Given the description of an element on the screen output the (x, y) to click on. 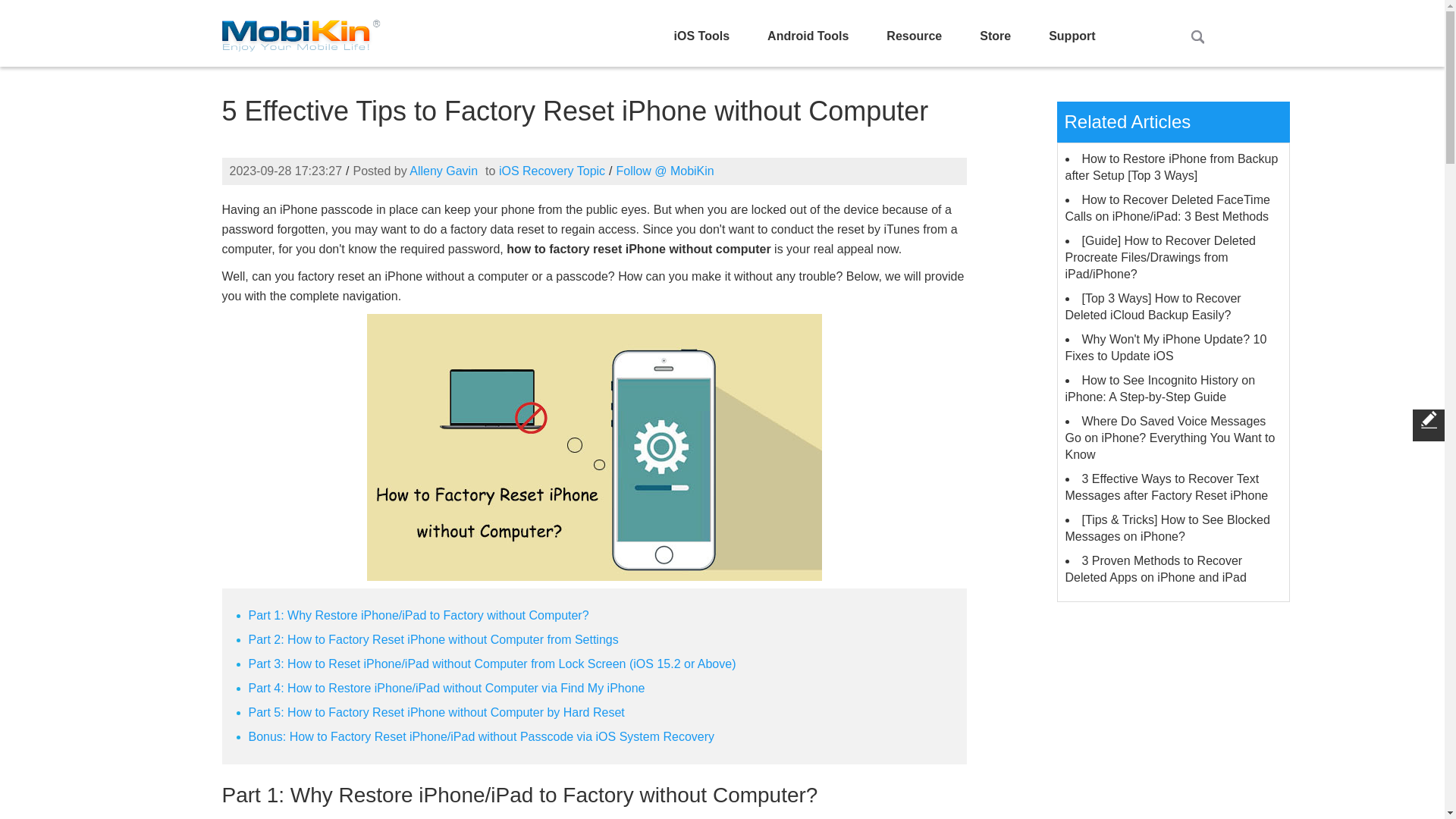
iOS Recovery Topic (552, 170)
Why Won't My iPhone Update? 10 Fixes to Update iOS (1165, 347)
Support (1071, 36)
Alleny Gavin (443, 170)
Store (994, 36)
Android Tools (808, 36)
Home (300, 31)
